Given the description of an element on the screen output the (x, y) to click on. 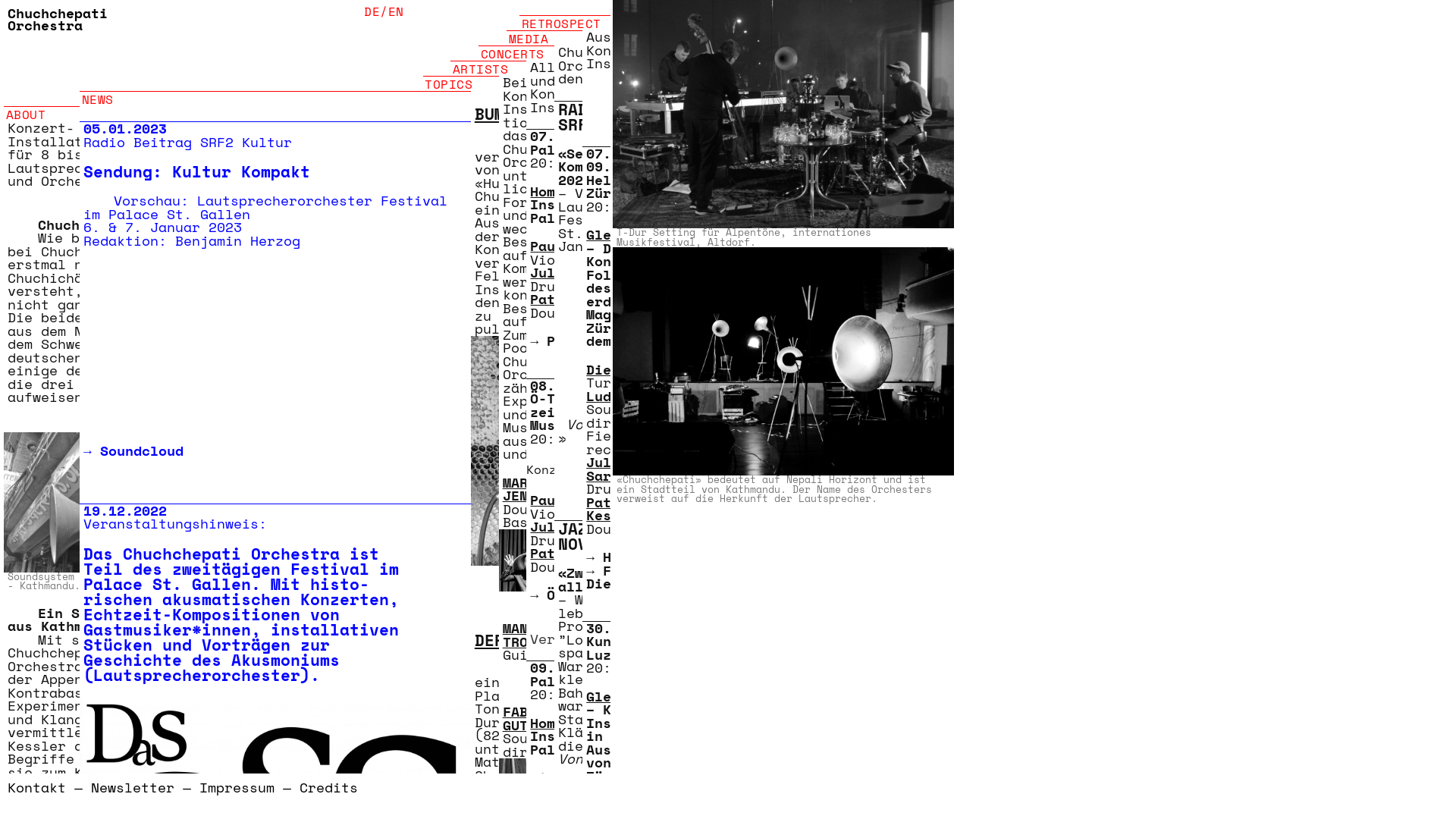
DER MAKROGRAPH Element type: text (543, 639)
Julian Sartorius Element type: text (623, 468)
RETROSPECT Element type: text (564, 15)
DE/ Element type: text (376, 11)
open Element type: text (18, 797)
Paula Sanchez Element type: text (584, 499)
EN Element type: text (396, 11)
Gletscherzungen Element type: text (648, 695)
Ludwig Berger Element type: text (640, 394)
MANUEL TROLLER Element type: text (531, 634)
Homebase Element type: text (563, 722)
Liz Allbee Element type: text (571, 777)
Patrick Kessler Element type: text (615, 507)
Chuchchepati
Orchestra Element type: text (57, 18)
MEDIA Element type: text (544, 30)
BUMBLEBEE FLIGHT II Element type: text (568, 113)
MARC JENNY Element type: text (523, 488)
Palace Element type: text (571, 340)
ARTISTS Element type: text (488, 60)
Patrick Kessler Element type: text (592, 298)
Helsinki Element type: text (635, 556)
TOPICS Element type: text (460, 75)
THERESA BEYER Element type: text (593, 634)
Bumblebee Flight II Element type: hover (585, 459)
MATS GUSTAFSSON Element type: text (606, 488)
Soundcloud Element type: text (141, 450)
ABOUT Element type: text (41, 106)
Paula Sanchez Element type: text (584, 245)
Julian Sartorius Element type: text (596, 272)
Homebase Element type: text (563, 190)
Dieb 13 Element type: text (615, 369)
FABIAN GUTSCHER Element type: text (535, 717)
NEWS Element type: text (274, 91)
Julian Sartorius Element type: text (596, 526)
Gletscherzungen Element type: text (648, 234)
CONCERTS Element type: text (516, 45)
Dieb 13 Element type: text (615, 803)
Patrick Kessler Element type: text (592, 552)
Film von Dieter Kovacic. Element type: text (648, 576)
